Given the description of an element on the screen output the (x, y) to click on. 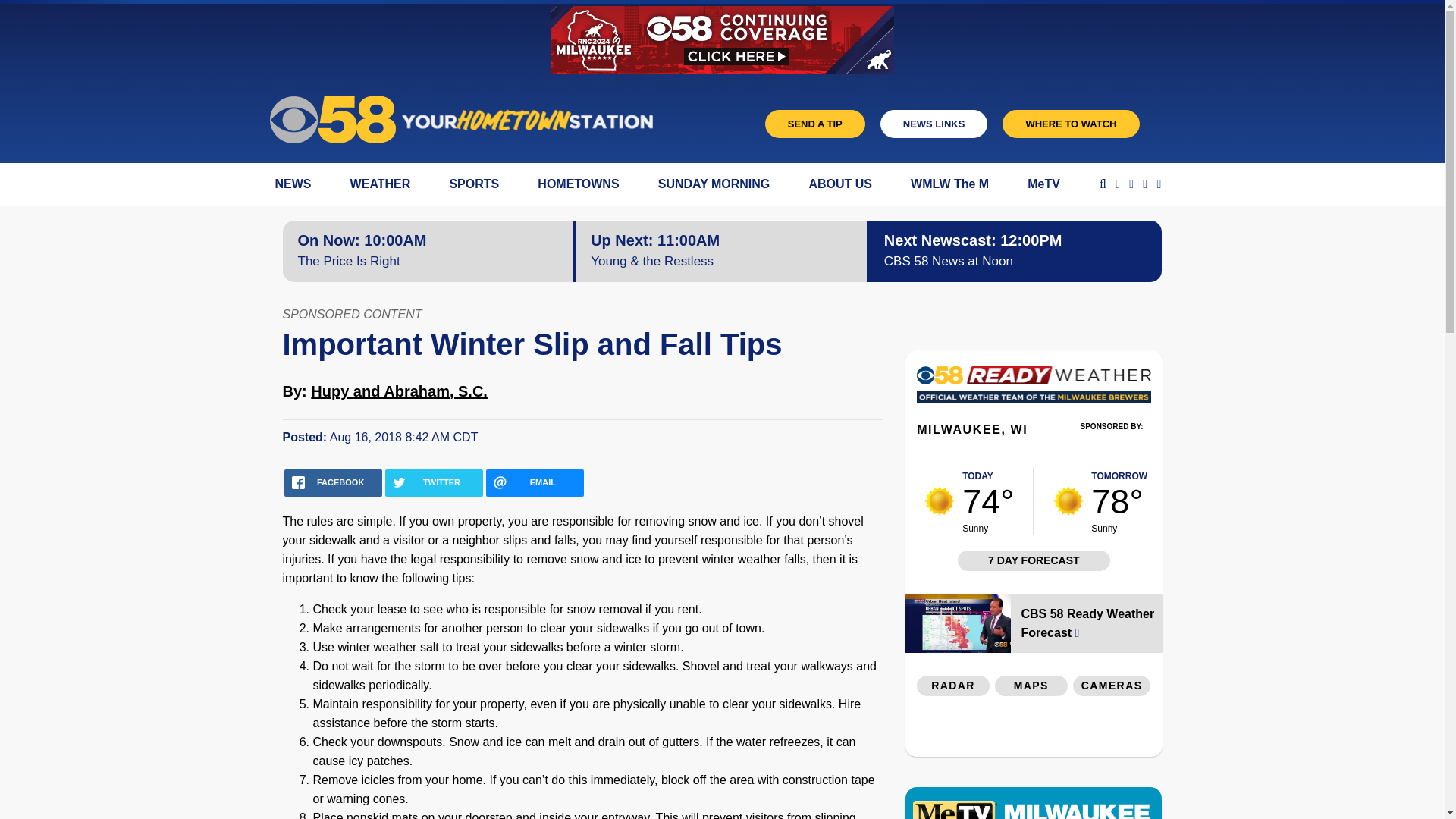
Weather (1033, 389)
3rd party ad content (1034, 730)
weather (1067, 501)
3rd party ad content (1112, 447)
weather (939, 501)
